Given the description of an element on the screen output the (x, y) to click on. 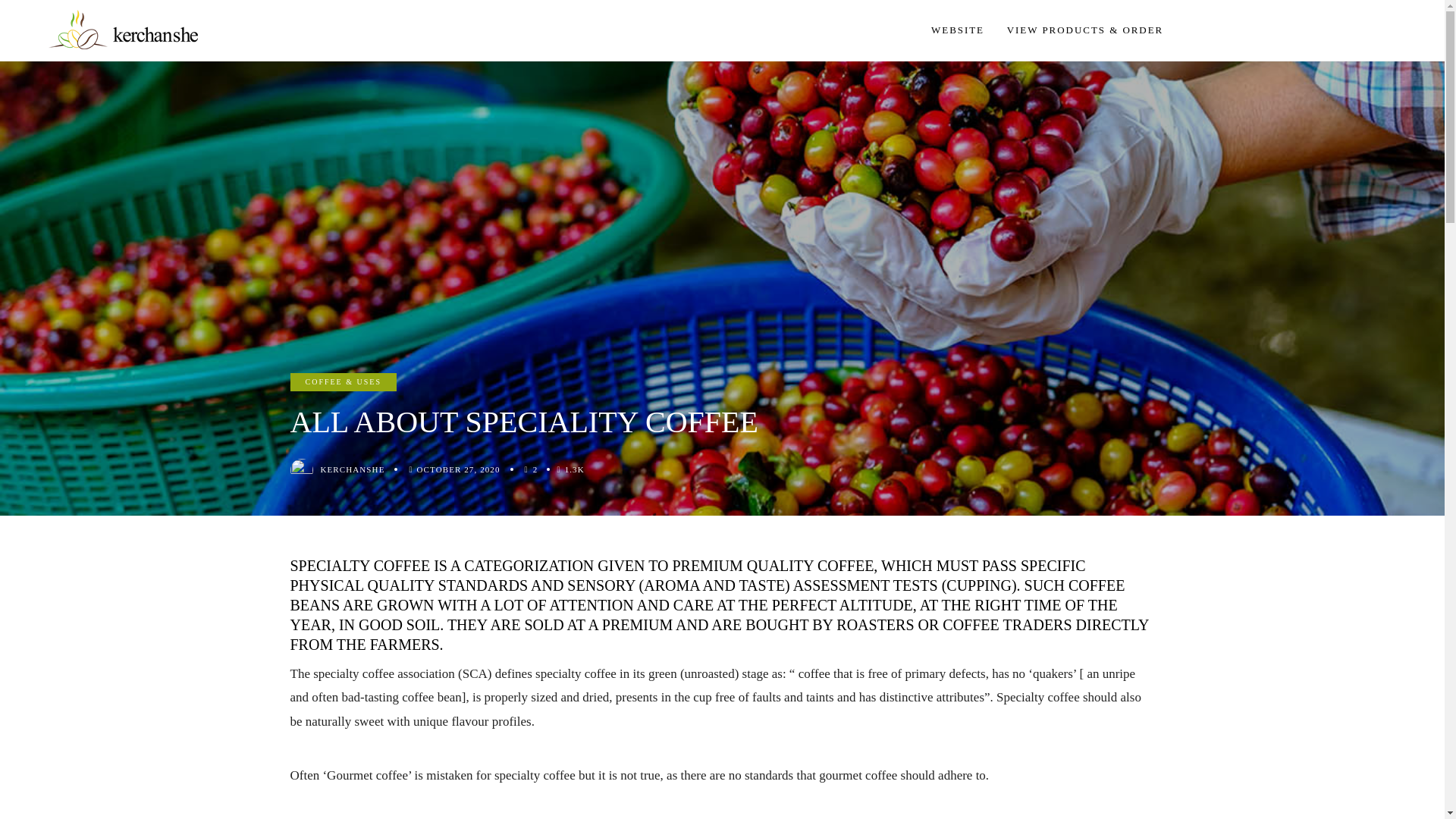
KERCHANSHE (352, 469)
Posts by Kerchanshe (352, 469)
2 (535, 468)
Like (535, 468)
